Given the description of an element on the screen output the (x, y) to click on. 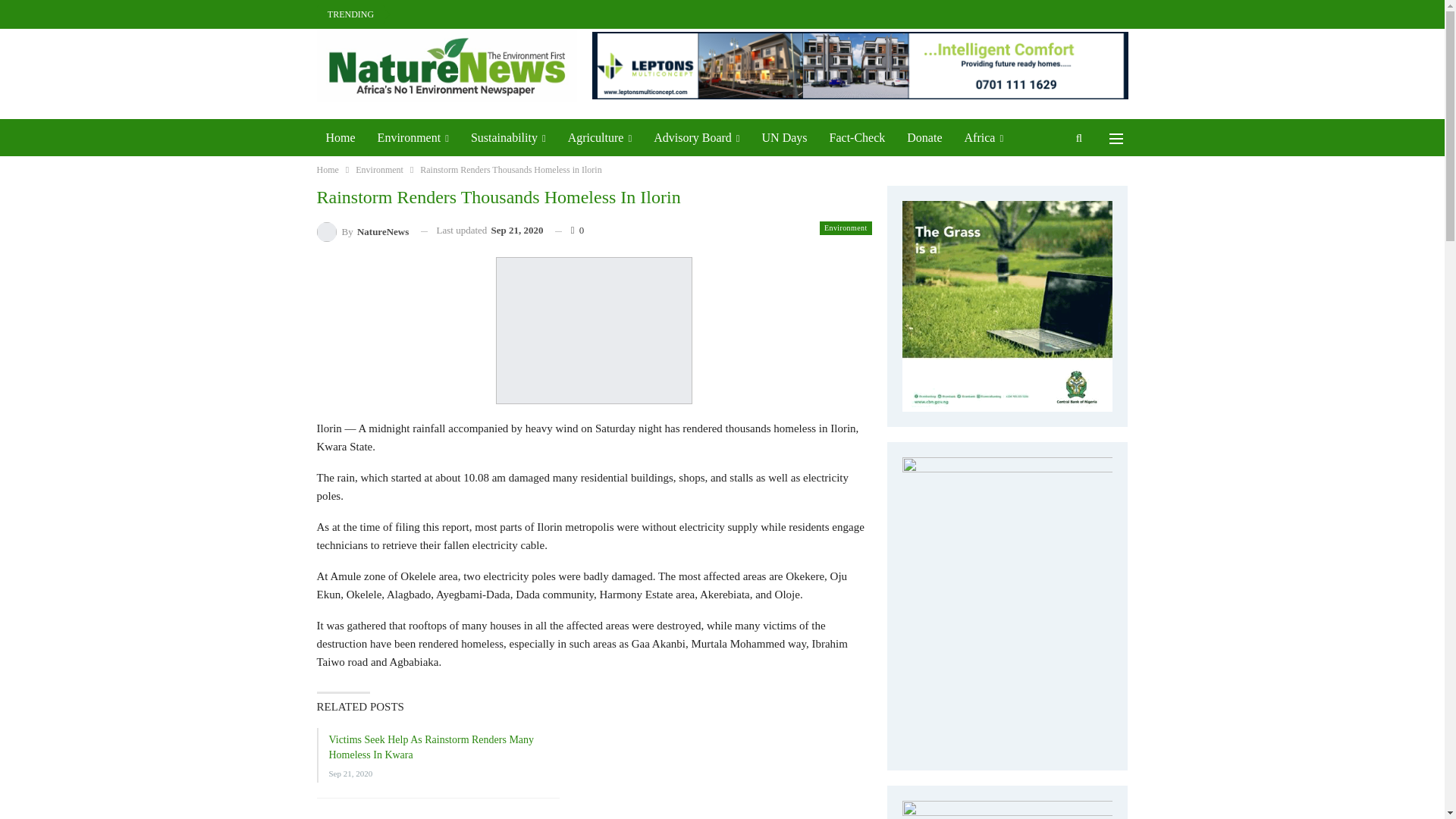
Advisory Board (696, 137)
Environment (413, 137)
Sustainability (507, 137)
Home (341, 137)
Browse Author Articles (363, 230)
Agriculture (600, 137)
